Given the description of an element on the screen output the (x, y) to click on. 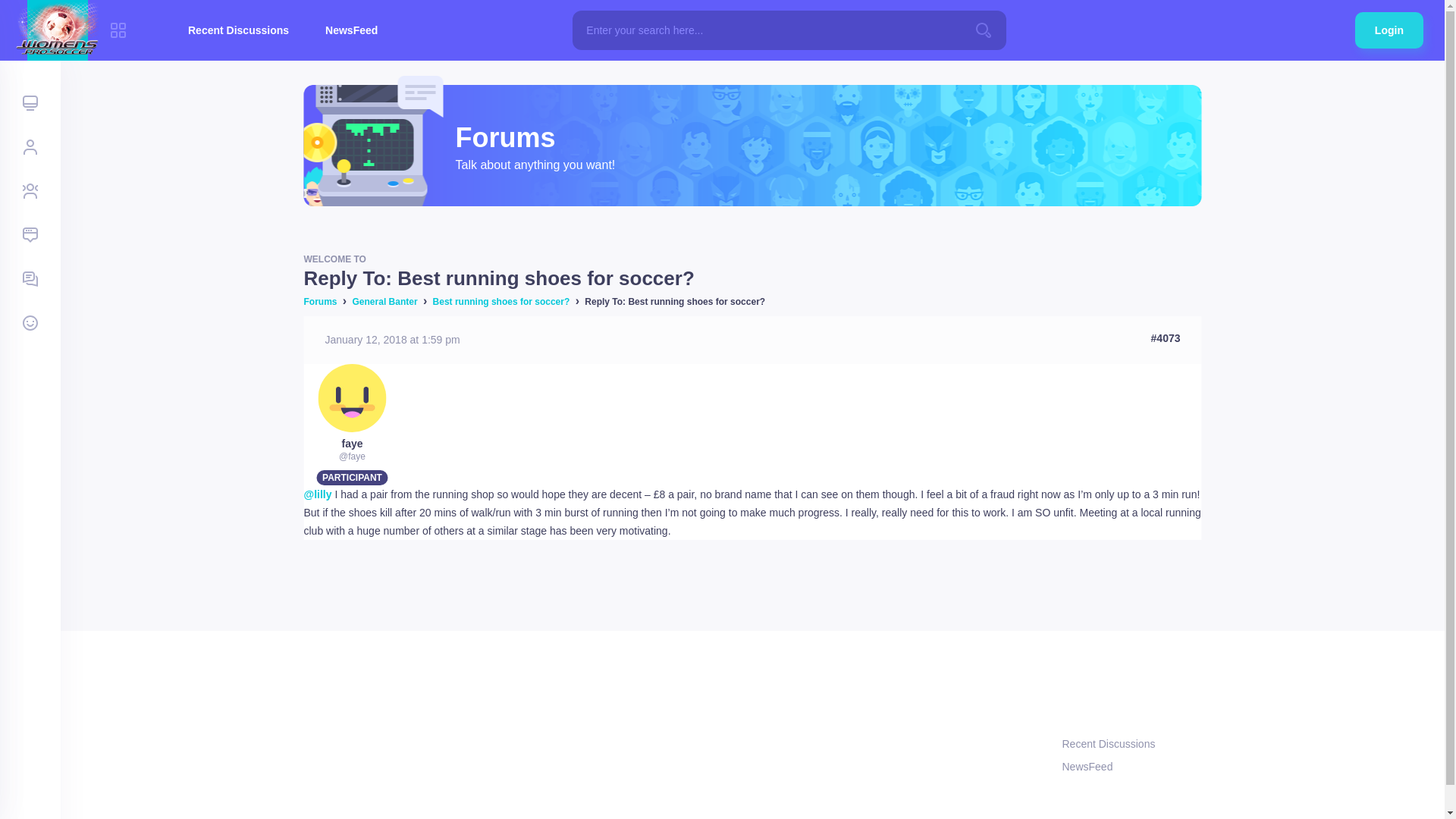
Recent Discussions (238, 30)
Best running shoes for soccer? (501, 301)
General Banter (384, 301)
NewsFeed (1131, 766)
Forums (319, 301)
faye (351, 443)
NewsFeed (351, 30)
Recent Discussions (1131, 743)
Login (1389, 30)
